Given the description of an element on the screen output the (x, y) to click on. 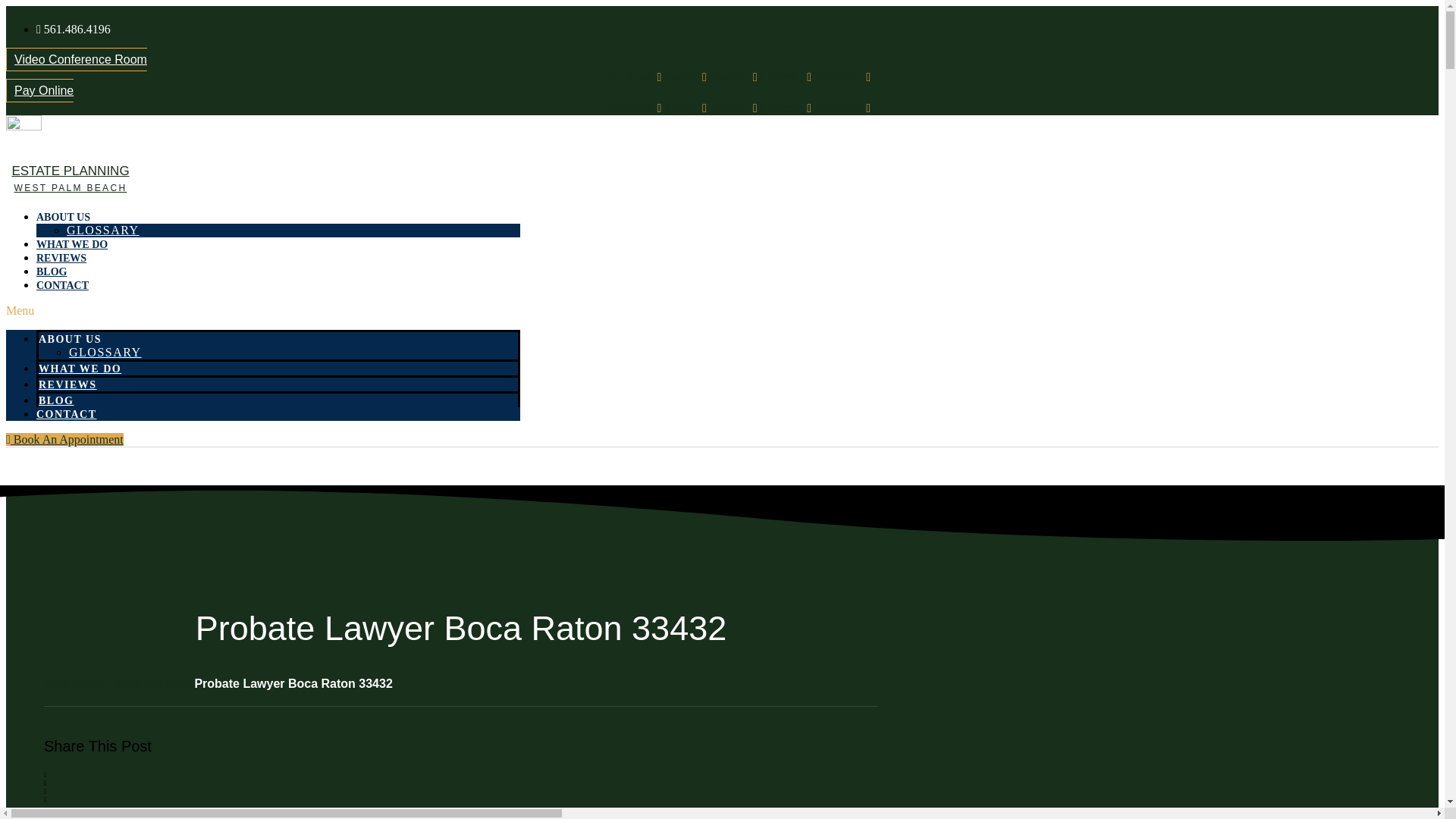
Twitter (686, 76)
REVIEWS (60, 257)
CONTACT (62, 285)
CONTACT (66, 414)
WHAT WE DO (71, 244)
Facebook (635, 107)
ESTATE PLANNING (70, 170)
Facebook (635, 76)
WEST PALM BEACH (71, 187)
Linkedin (787, 76)
